Given the description of an element on the screen output the (x, y) to click on. 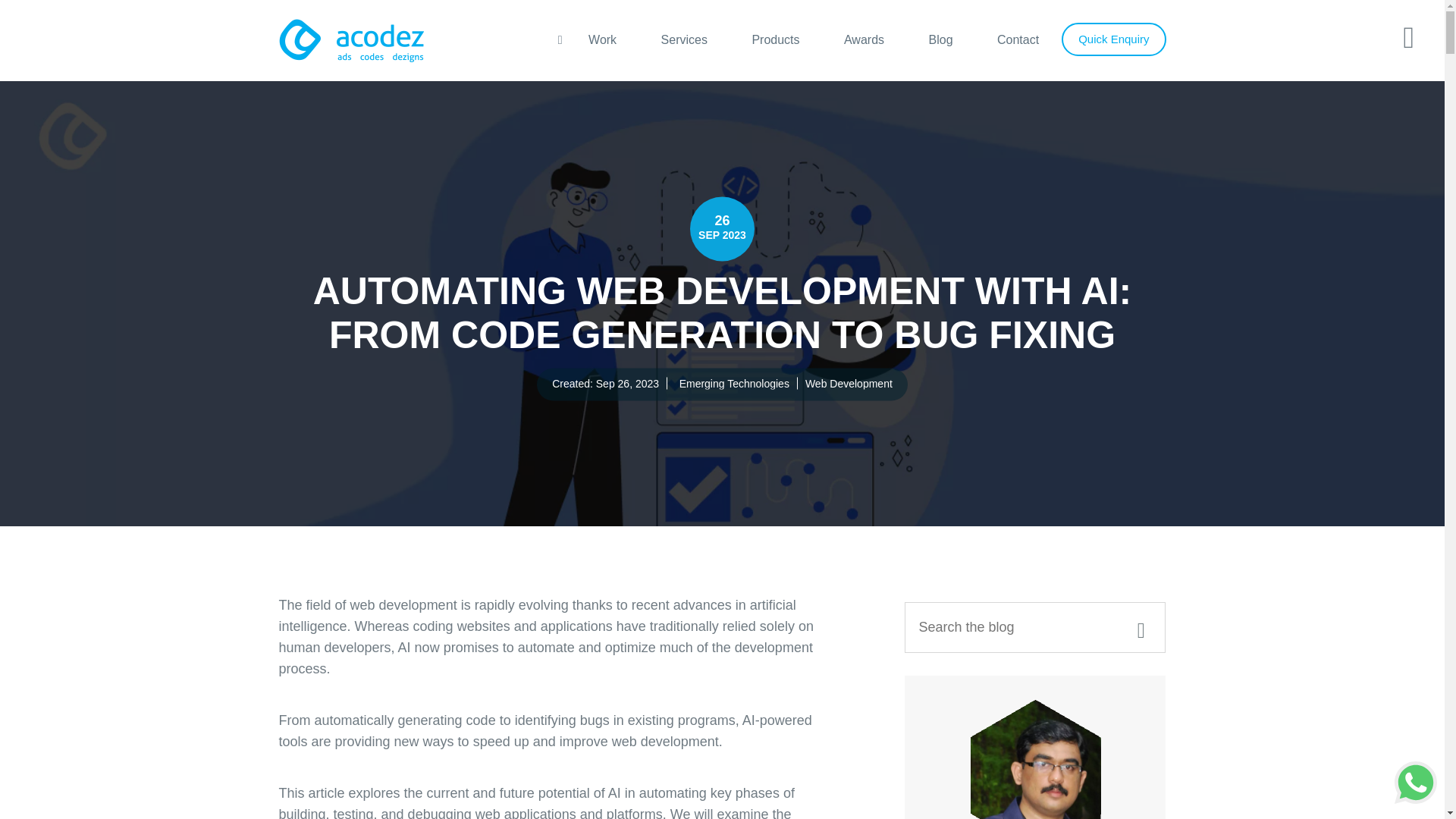
Quick Enquiry (1113, 39)
Products (775, 39)
Services (684, 39)
Awards (863, 39)
Contact (1018, 39)
